Given the description of an element on the screen output the (x, y) to click on. 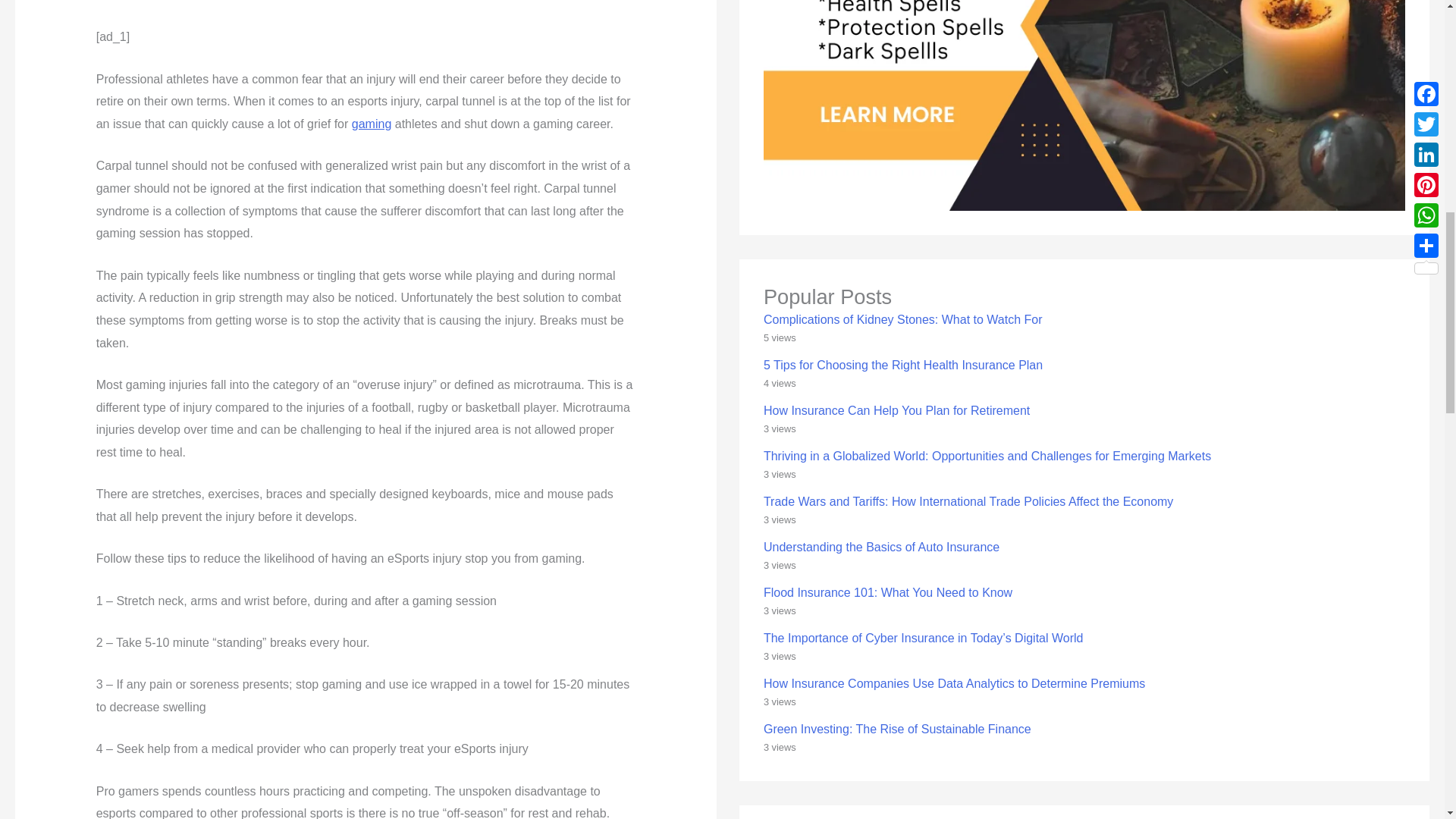
gaming (371, 123)
